Given the description of an element on the screen output the (x, y) to click on. 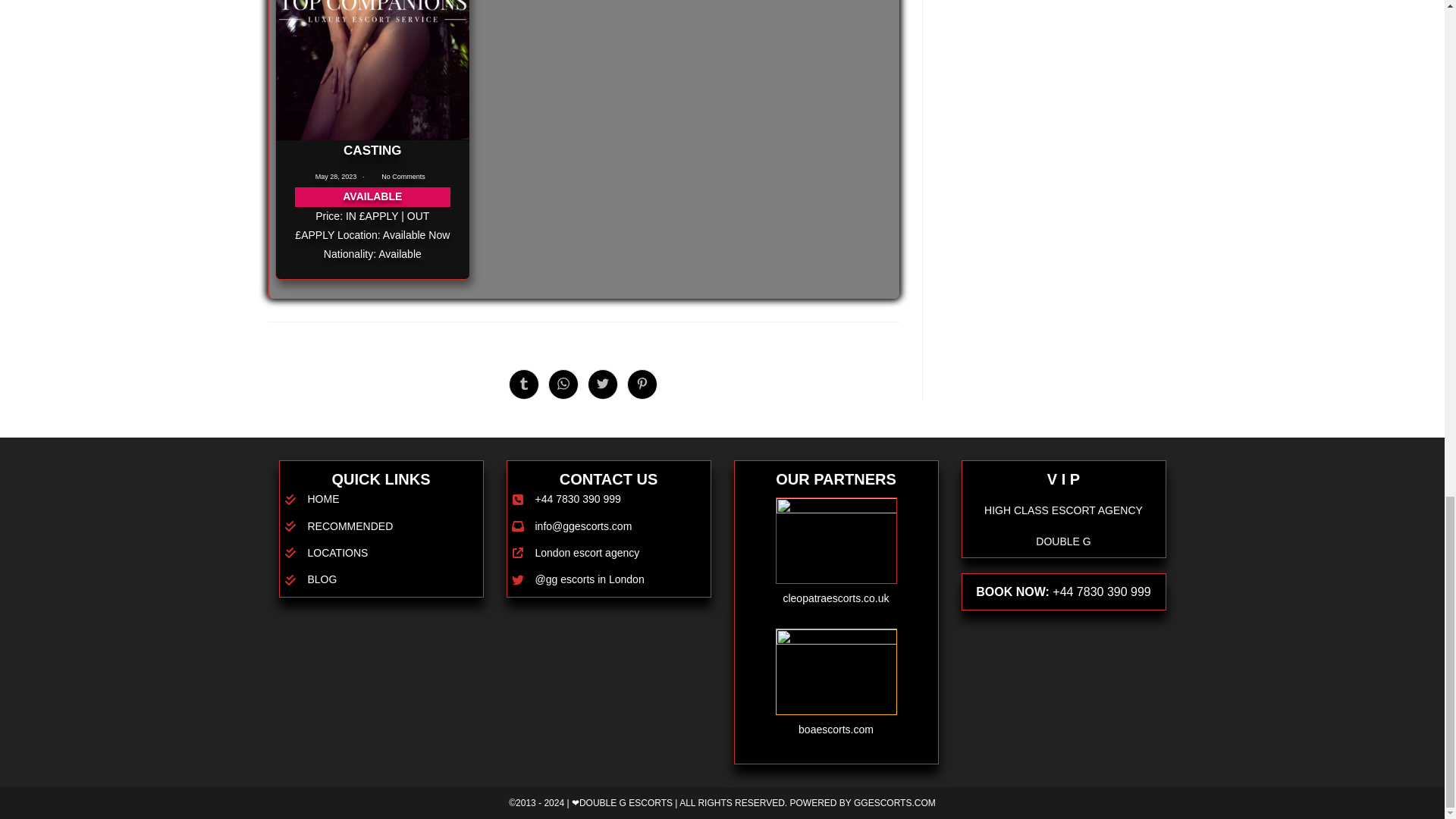
cleopatraescorts.co.uk (835, 598)
Opens in a new window (523, 384)
CASTING (372, 150)
Opens in a new window (563, 384)
Opens in a new window (642, 384)
Opens in a new window (602, 384)
